Given the description of an element on the screen output the (x, y) to click on. 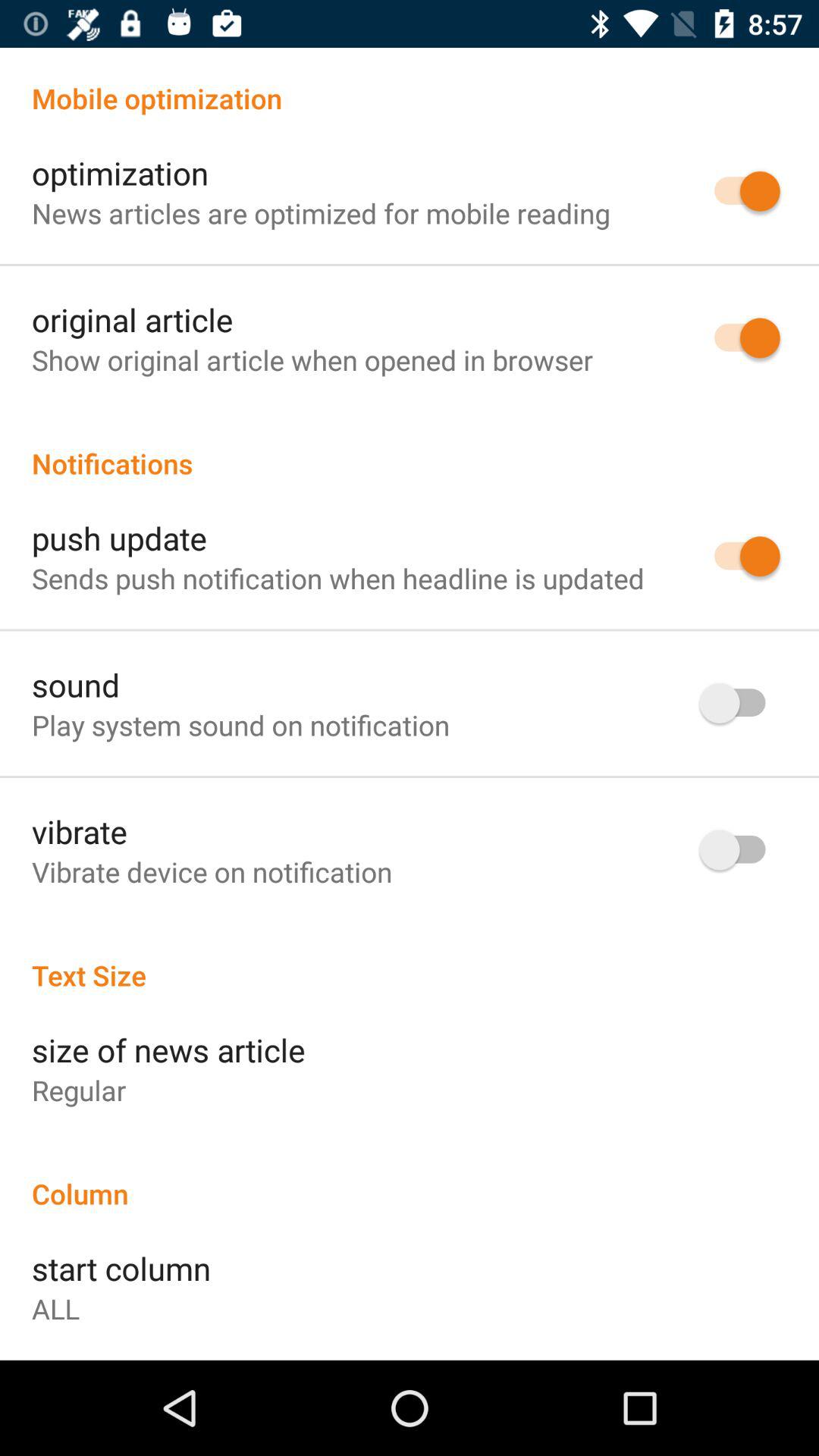
flip until play system sound icon (240, 724)
